Given the description of an element on the screen output the (x, y) to click on. 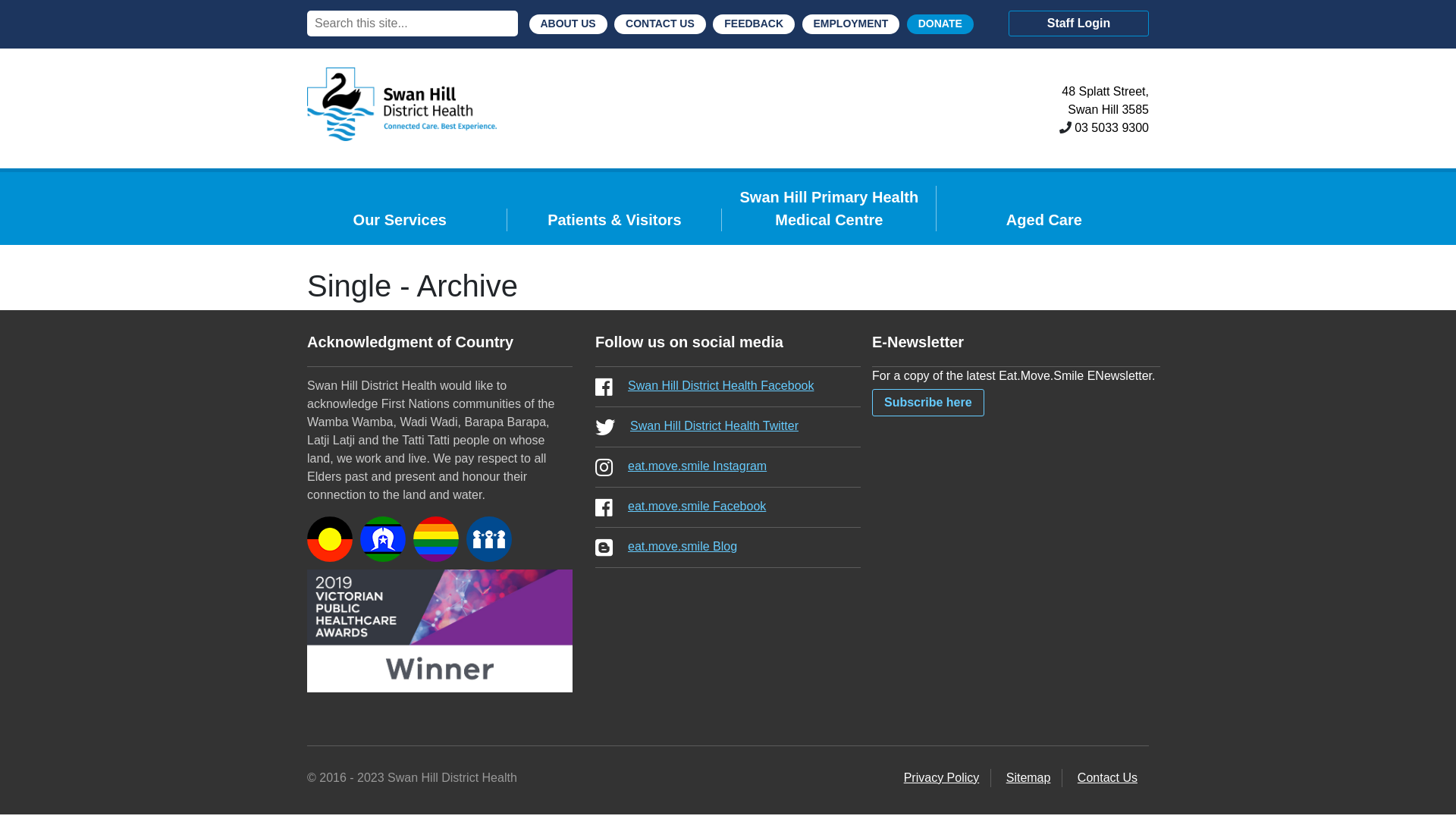
Sitemap Element type: text (1028, 777)
eat.move.smile Blog Element type: text (727, 547)
Swan Hill Primary Health Medical Centre Element type: text (829, 208)
Our Services Element type: text (400, 219)
EMPLOYMENT Element type: text (851, 24)
Staff Login Element type: text (1078, 23)
eat.move.smile Instagram Element type: text (727, 467)
Aged Care Element type: text (1044, 219)
Swan Hill District Health Twitter Element type: text (727, 427)
Search Element type: text (25, 11)
DONATE Element type: text (939, 24)
ABOUT US Element type: text (568, 24)
Patients & Visitors Element type: text (614, 219)
Privacy Policy Element type: text (941, 777)
Swan Hill District Health Facebook Element type: text (727, 387)
48 Splatt Street,
Swan Hill 3585 Element type: text (1104, 100)
Subscribe here Element type: text (928, 402)
eat.move.smile Facebook Element type: text (727, 507)
03 5033 9300 Element type: text (1111, 128)
FEEDBACK Element type: text (753, 24)
CONTACT US Element type: text (660, 24)
Contact Us Element type: text (1107, 777)
